Given the description of an element on the screen output the (x, y) to click on. 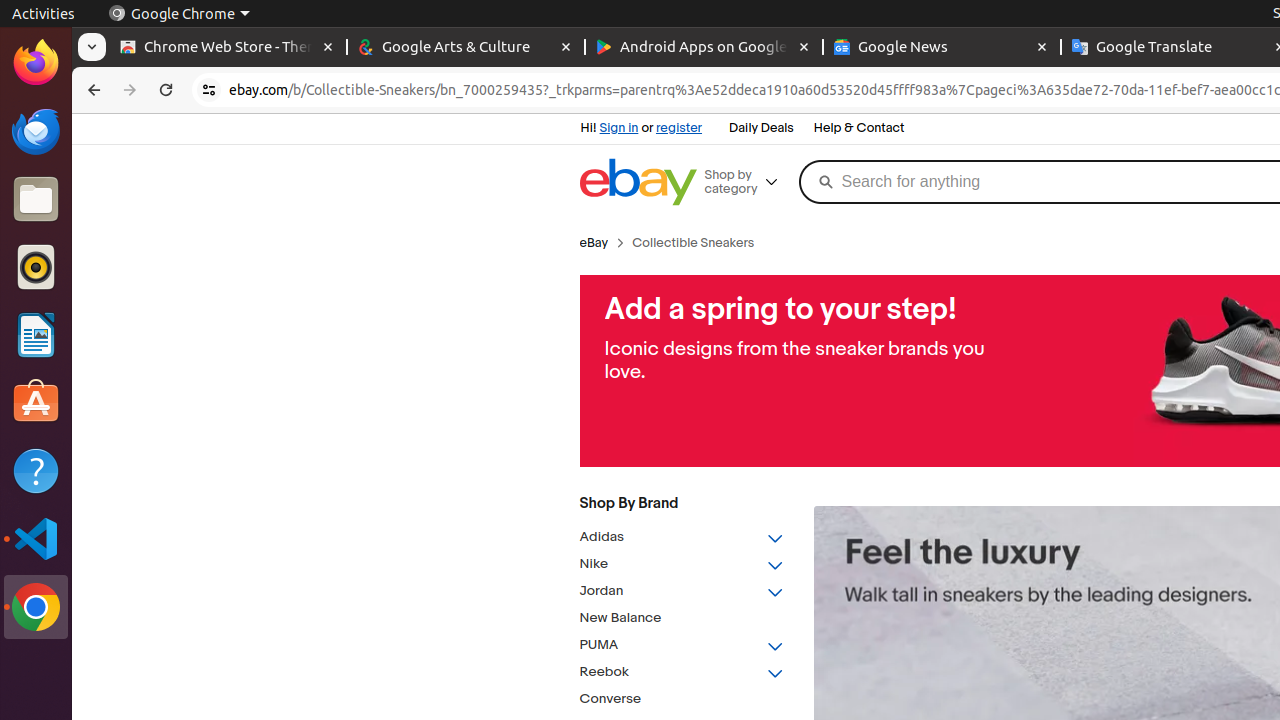
Adidas Element type: push-button (682, 537)
Jordan Element type: push-button (682, 591)
Forward Element type: push-button (130, 90)
eBay Home Element type: link (638, 182)
Nike Element type: push-button (682, 564)
